Given the description of an element on the screen output the (x, y) to click on. 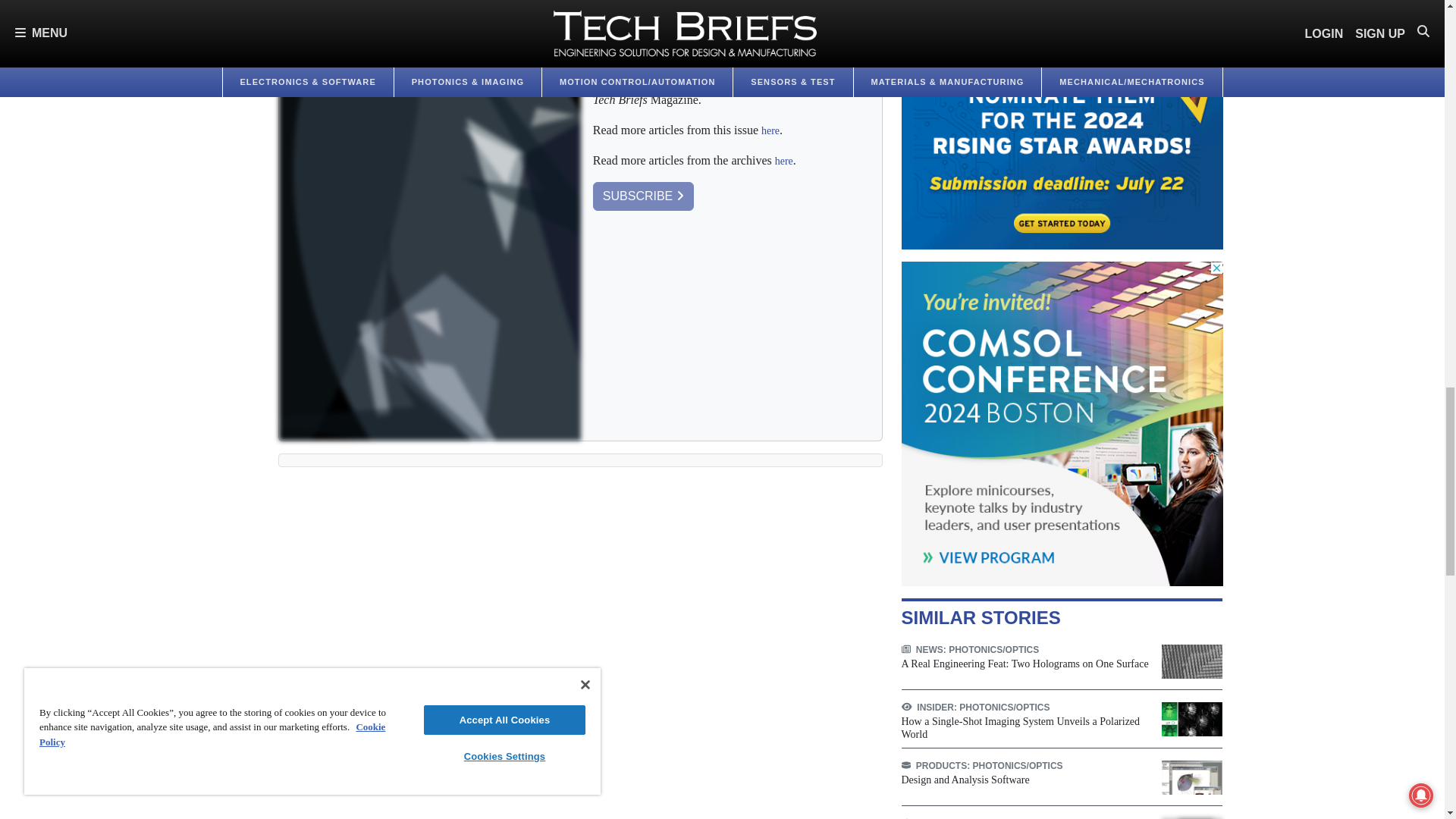
3rd party ad content (1062, 423)
3rd party ad content (1062, 124)
